Given the description of an element on the screen output the (x, y) to click on. 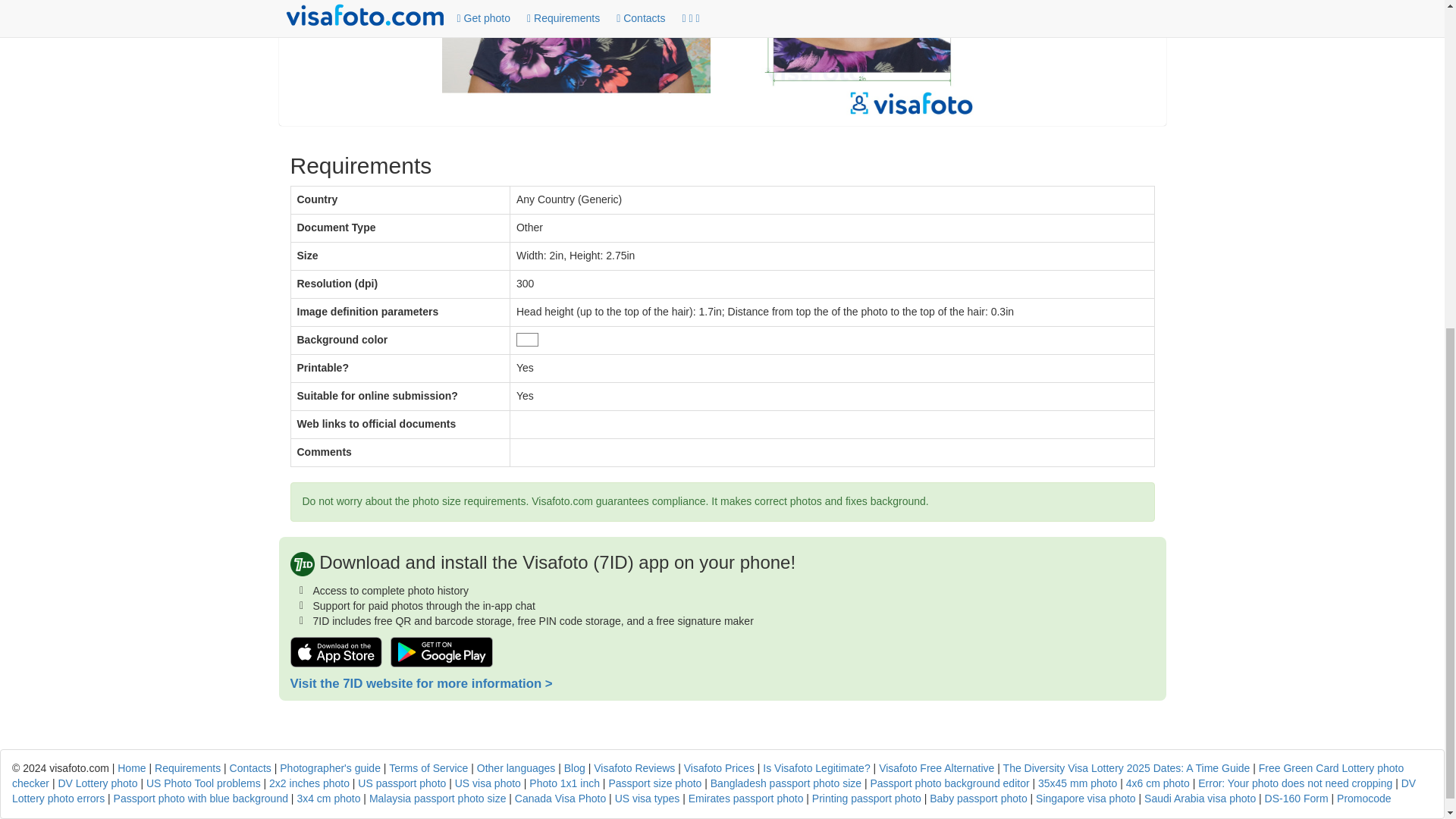
The Diversity Visa Lottery 2025 Dates: A Time Guide (1126, 767)
US passport photo (401, 783)
Other languages (516, 767)
DV Lottery photo (97, 783)
Terms of Service (427, 767)
Visafoto Reviews (634, 767)
Blog (574, 767)
2x2 inches photo (309, 783)
Visafoto Free Alternative (936, 767)
Error: Your photo does not need cropping (1294, 783)
Passport photo background editor (949, 783)
Home (131, 767)
US visa photo (487, 783)
Contacts (250, 767)
Is Visafoto Legitimate? (815, 767)
